Given the description of an element on the screen output the (x, y) to click on. 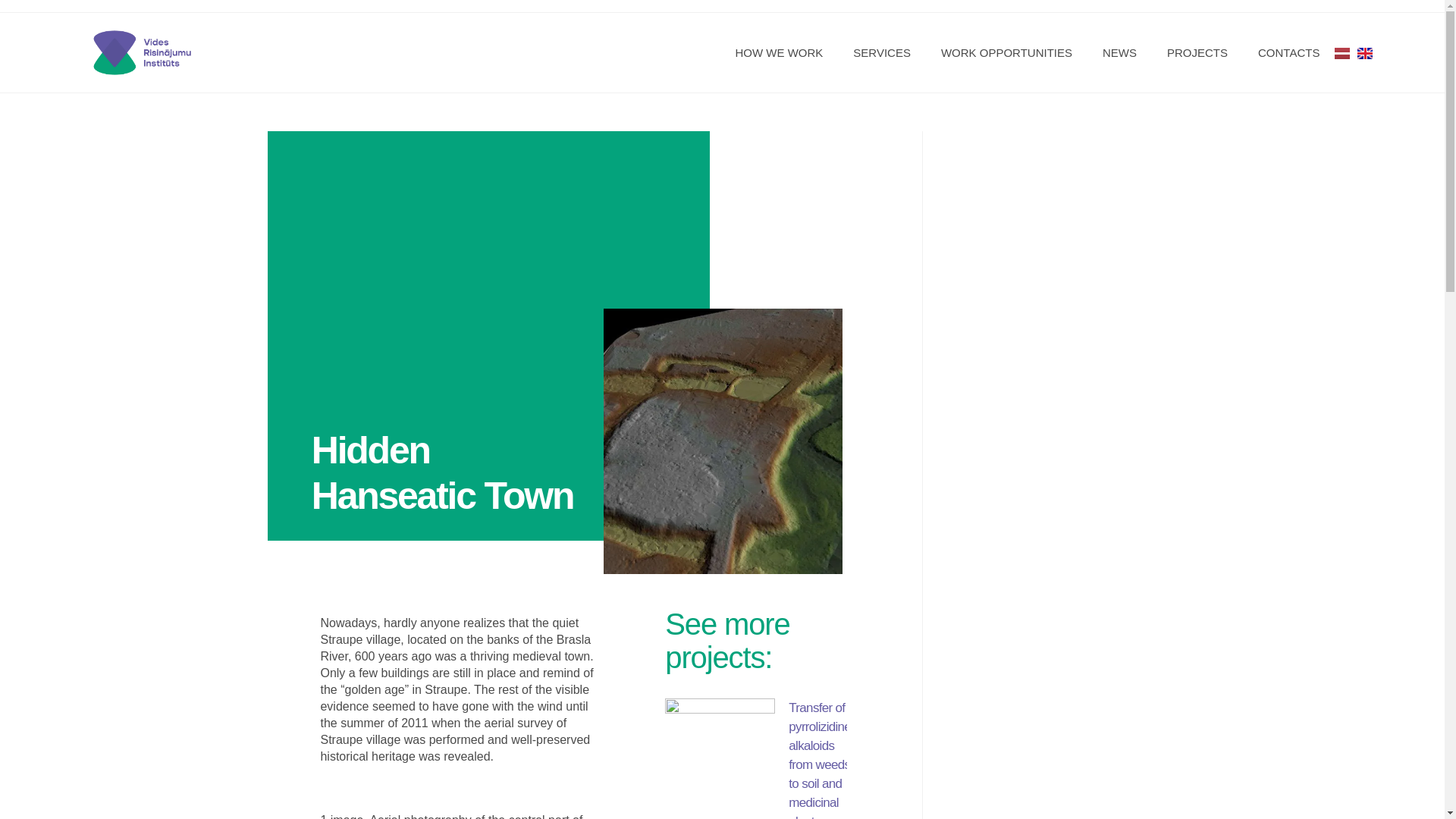
PROJECTS (1197, 52)
SERVICES (882, 52)
WORK OPPORTUNITIES (1006, 52)
HOW WE WORK (779, 52)
CONTACTS (1289, 52)
